Given the description of an element on the screen output the (x, y) to click on. 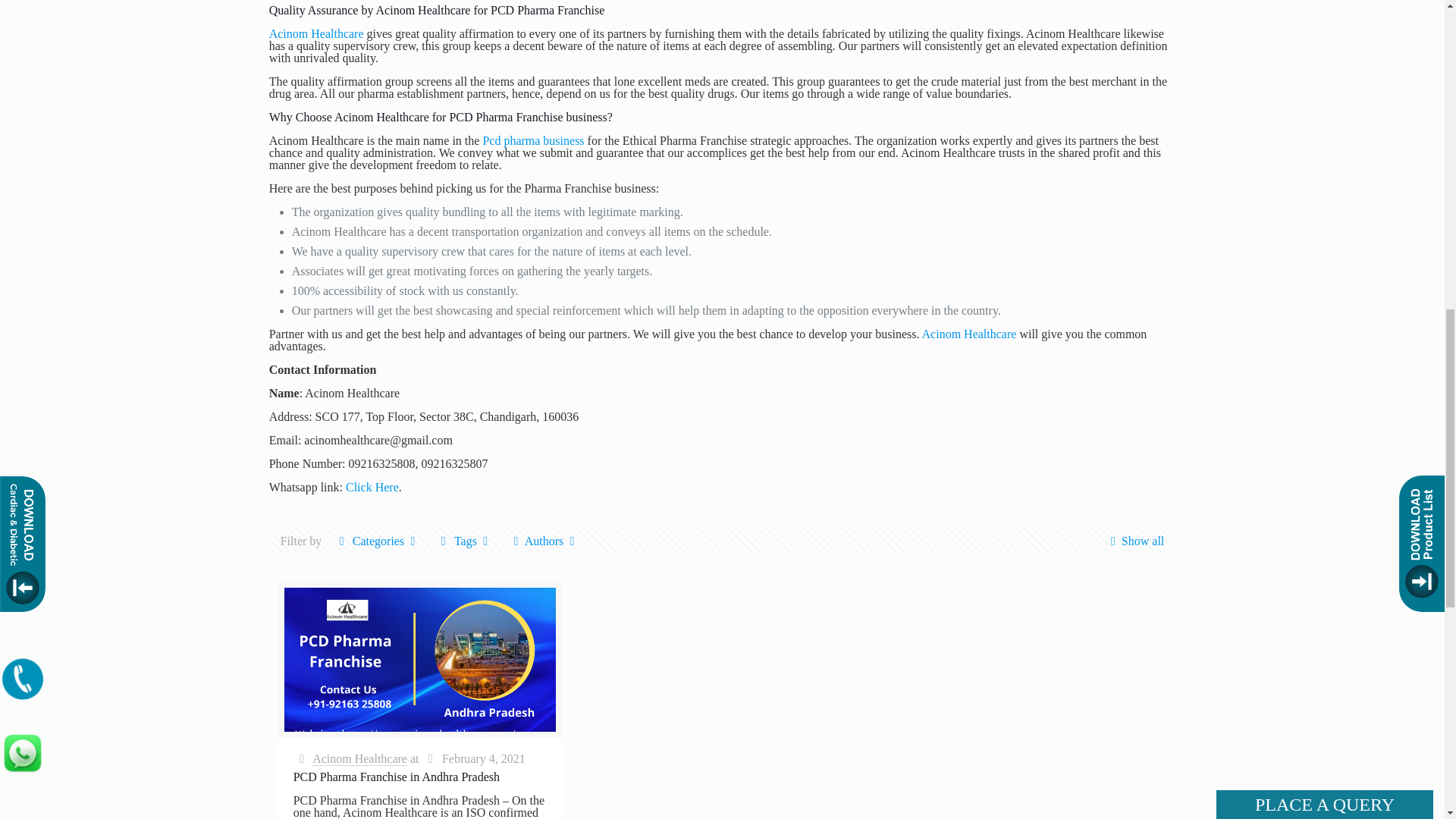
Acinom Healthcare (968, 333)
Acinom Healthcare (316, 33)
Pcd pharma business (532, 140)
